Given the description of an element on the screen output the (x, y) to click on. 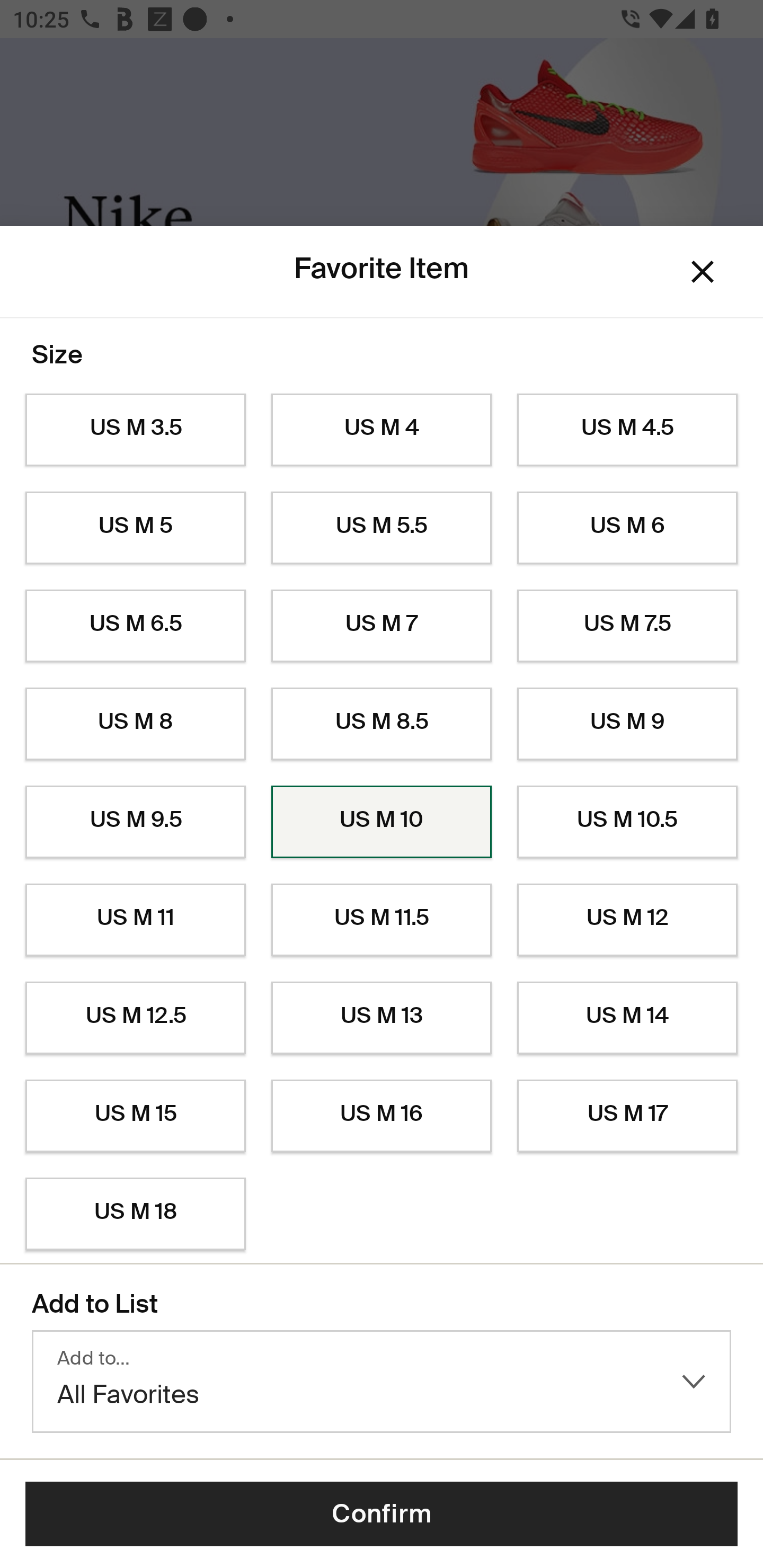
Dismiss (702, 271)
US M 3.5 (135, 430)
US M 4 (381, 430)
US M 4.5 (627, 430)
US M 5 (135, 527)
US M 5.5 (381, 527)
US M 6 (627, 527)
US M 6.5 (135, 626)
US M 7 (381, 626)
US M 7.5 (627, 626)
US M 8 (135, 724)
US M 8.5 (381, 724)
US M 9 (627, 724)
US M 9.5 (135, 822)
US M 10 (381, 822)
US M 10.5 (627, 822)
US M 11 (135, 919)
US M 11.5 (381, 919)
US M 12 (627, 919)
US M 12.5 (135, 1018)
US M 13 (381, 1018)
US M 14 (627, 1018)
US M 15 (135, 1116)
US M 16 (381, 1116)
US M 17 (627, 1116)
US M 18 (135, 1214)
Add to… All Favorites (381, 1381)
Confirm (381, 1513)
